Given the description of an element on the screen output the (x, y) to click on. 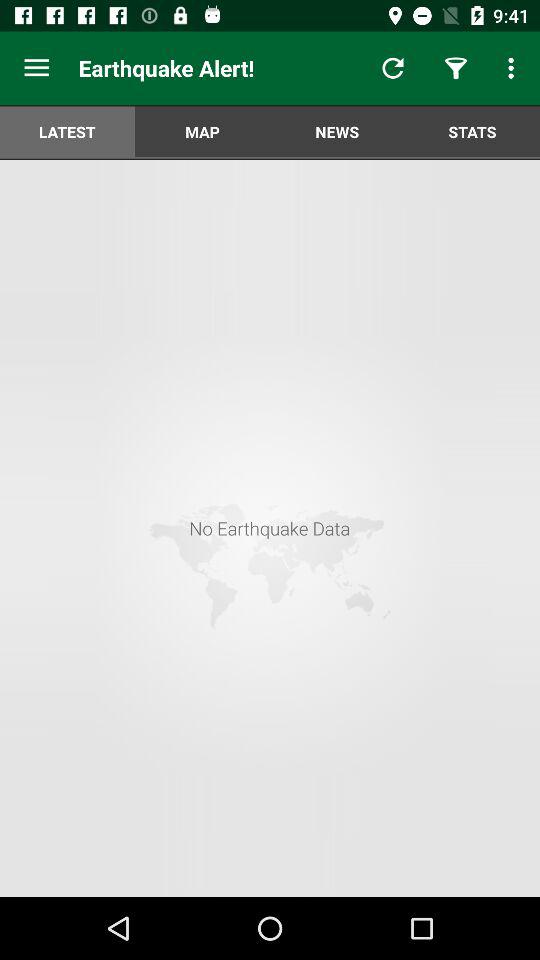
turn on item to the left of earthquake alert! (36, 68)
